Given the description of an element on the screen output the (x, y) to click on. 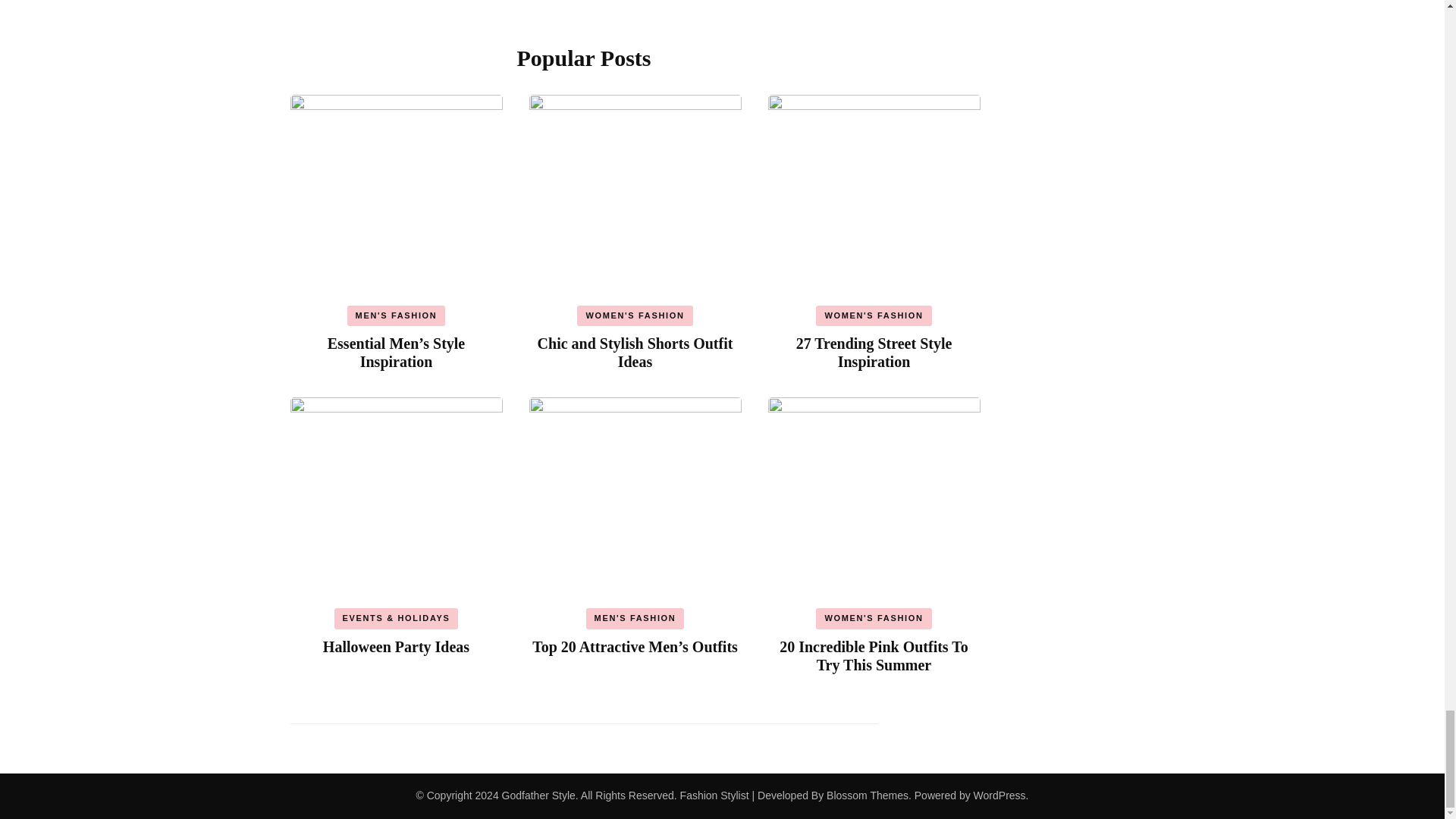
MEN'S FASHION (396, 315)
